Given the description of an element on the screen output the (x, y) to click on. 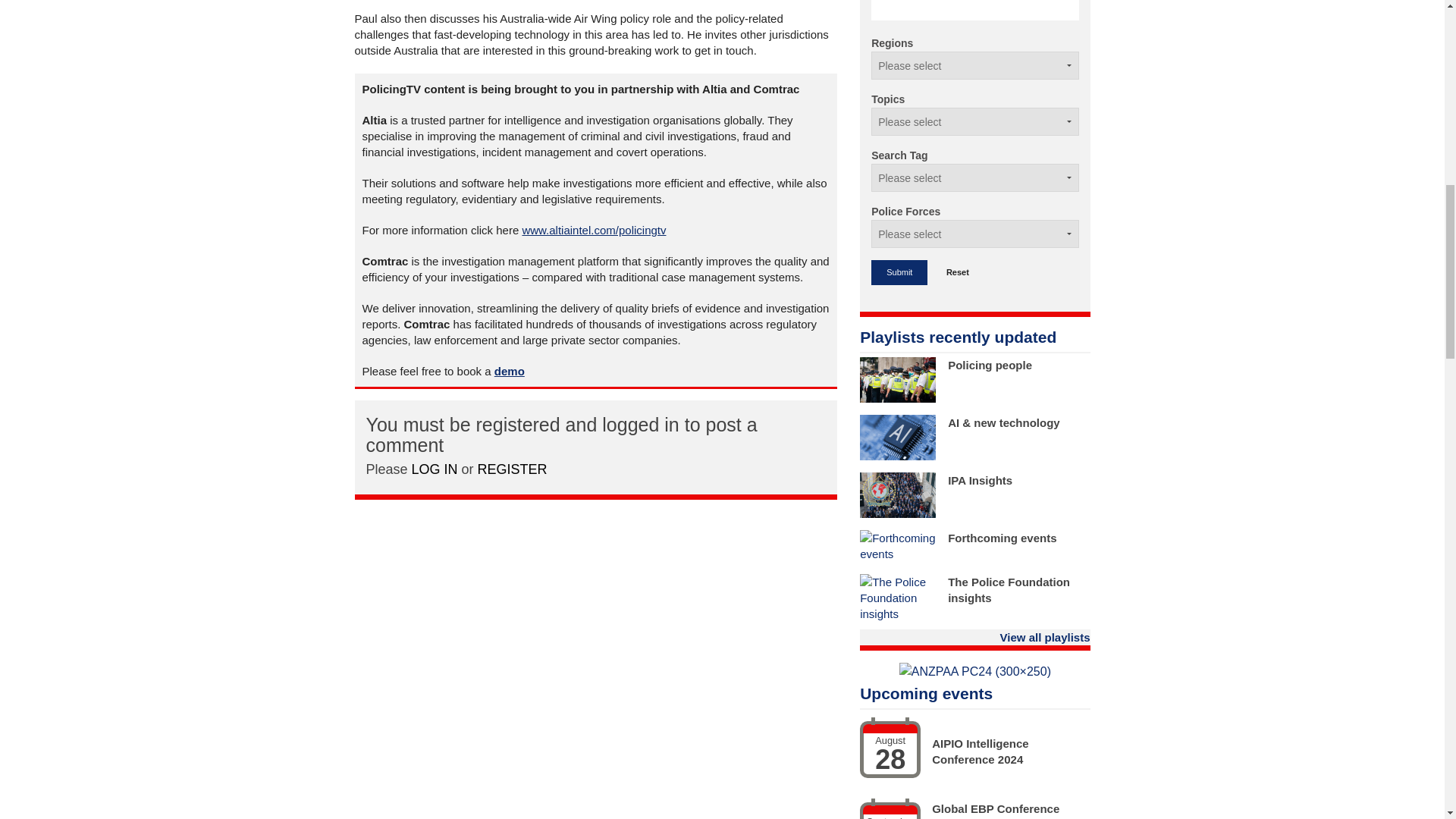
Submit (898, 272)
